Given the description of an element on the screen output the (x, y) to click on. 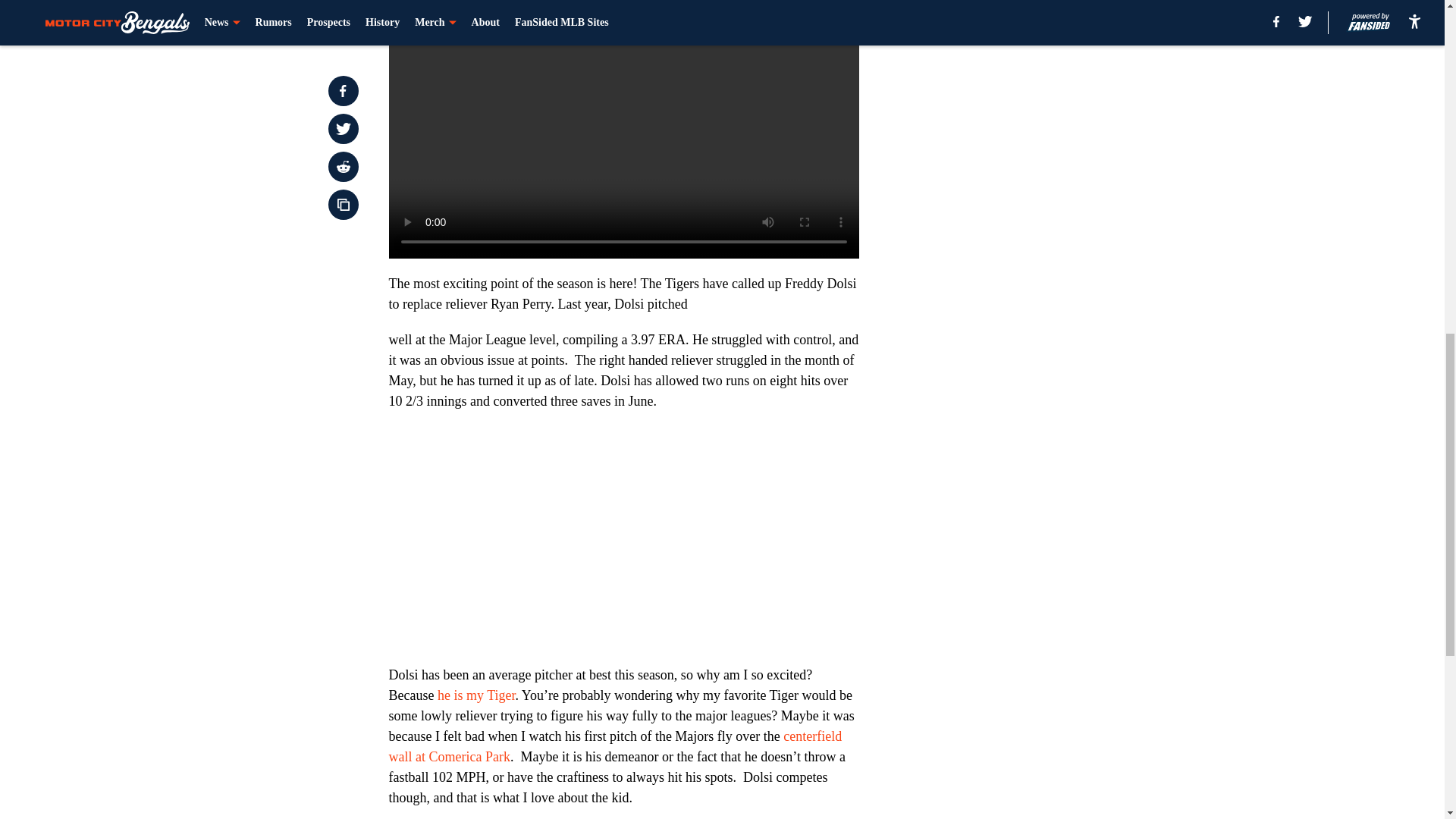
3rd party ad content (1047, 91)
he is my Tiger (476, 694)
3rd party ad content (1047, 308)
centerfield wall at Comerica Park (614, 746)
